Given the description of an element on the screen output the (x, y) to click on. 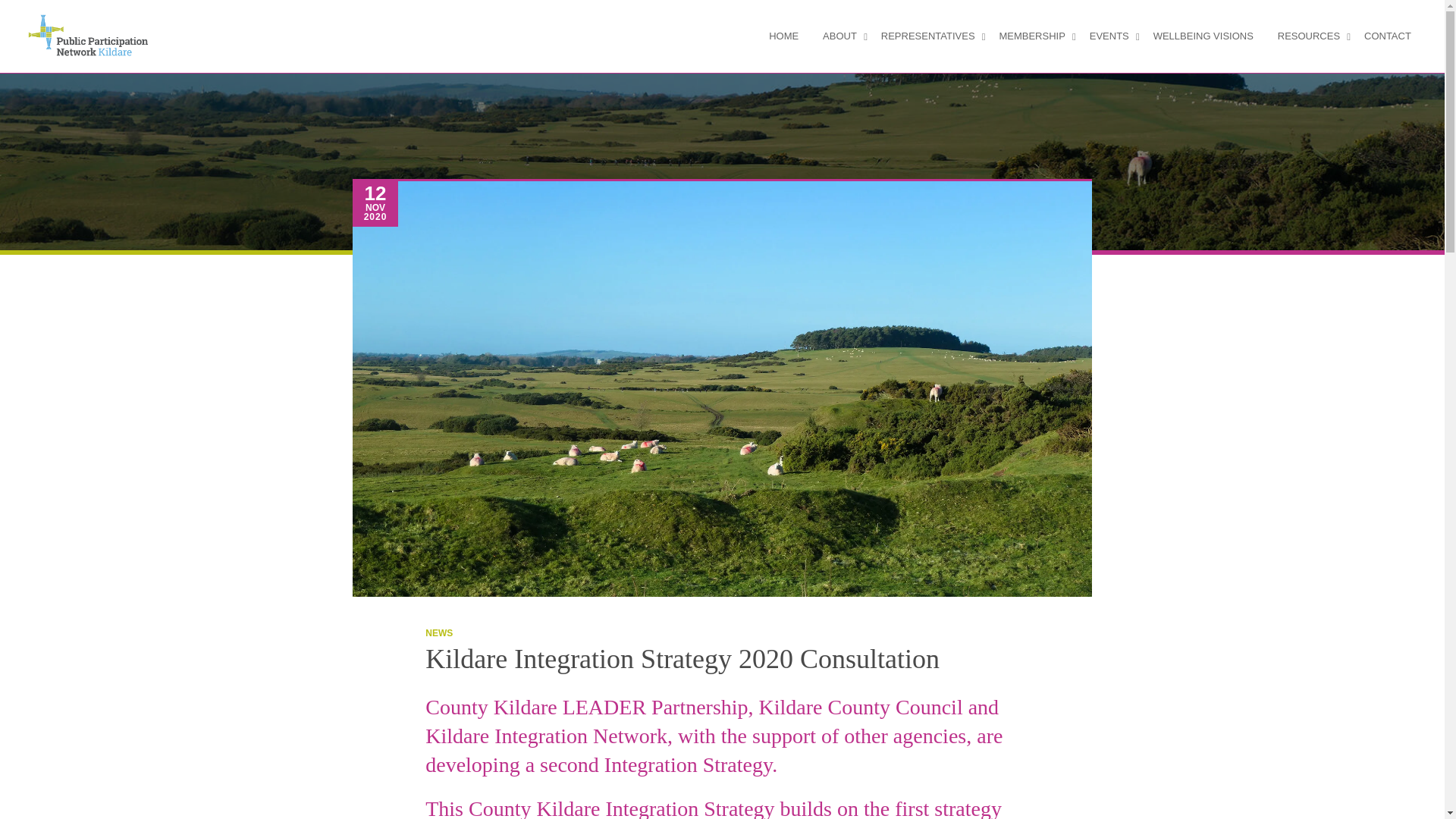
NEWS (438, 633)
RESOURCES (1308, 36)
WELLBEING VISIONS (1202, 36)
ABOUT (839, 36)
MEMBERSHIP (1031, 36)
CONTACT (1388, 36)
HOME (783, 36)
Kildare Public Participation Network (89, 36)
REPRESENTATIVES (927, 36)
EVENTS (1109, 36)
